Given the description of an element on the screen output the (x, y) to click on. 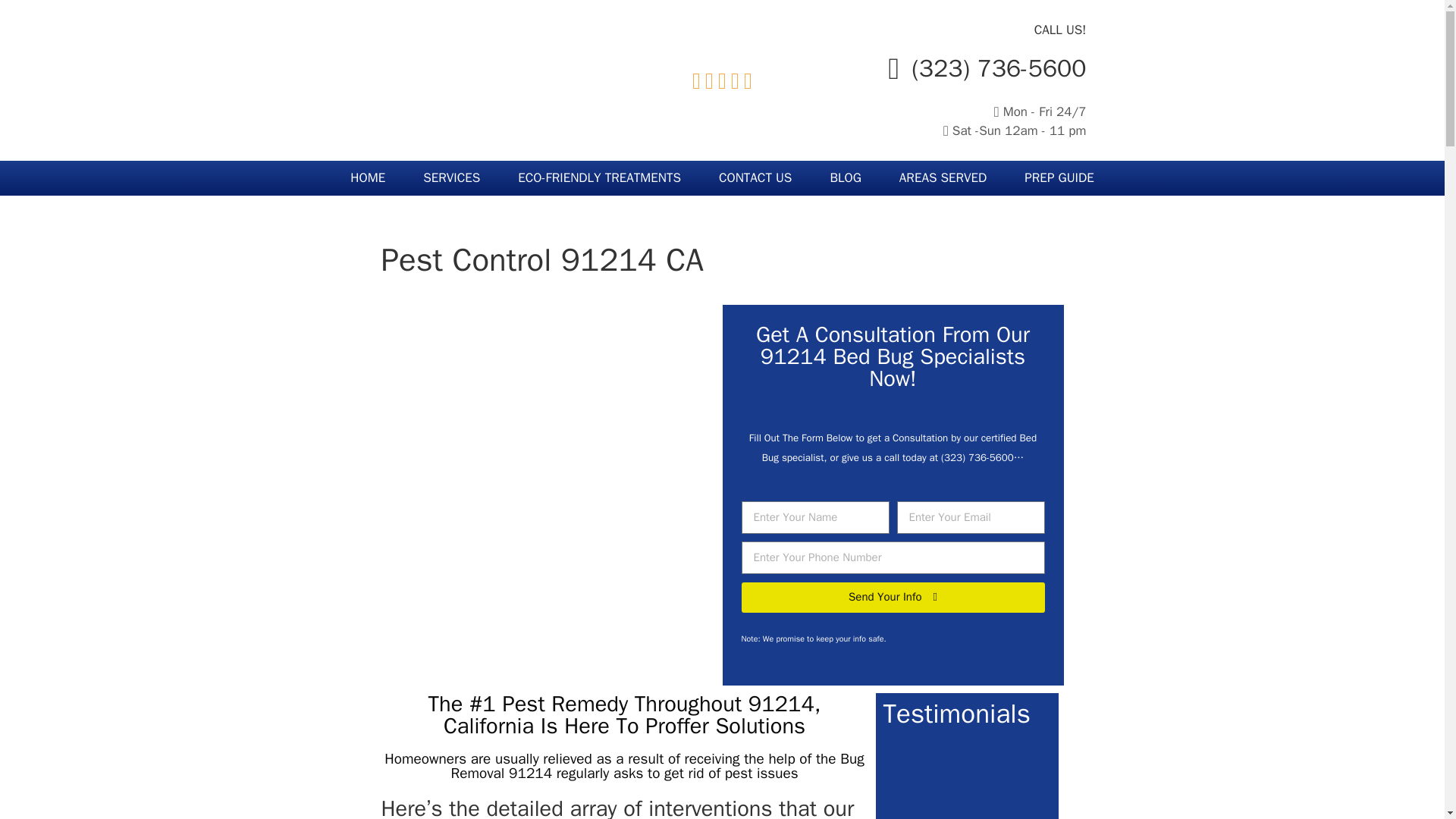
CONTACT US (755, 177)
ECO-FRIENDLY TREATMENTS (599, 177)
SERVICES (451, 177)
AREAS SERVED (943, 177)
HOME (367, 177)
BLOG (844, 177)
